Given the description of an element on the screen output the (x, y) to click on. 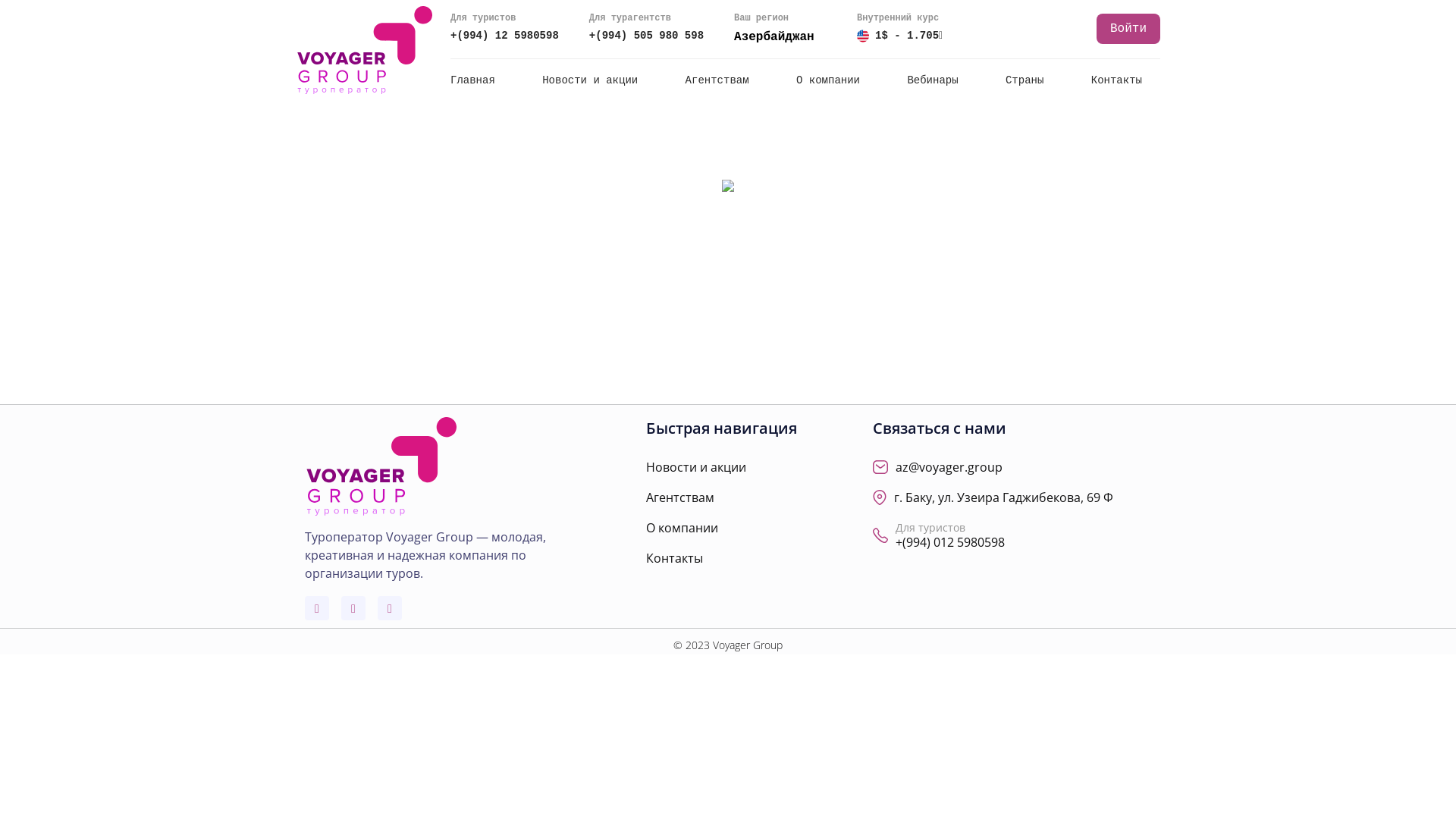
+(994) 12 5980598 Element type: text (504, 35)
az@voyager.group Element type: text (948, 467)
+(994) 505 980 598 Element type: text (646, 35)
